Given the description of an element on the screen output the (x, y) to click on. 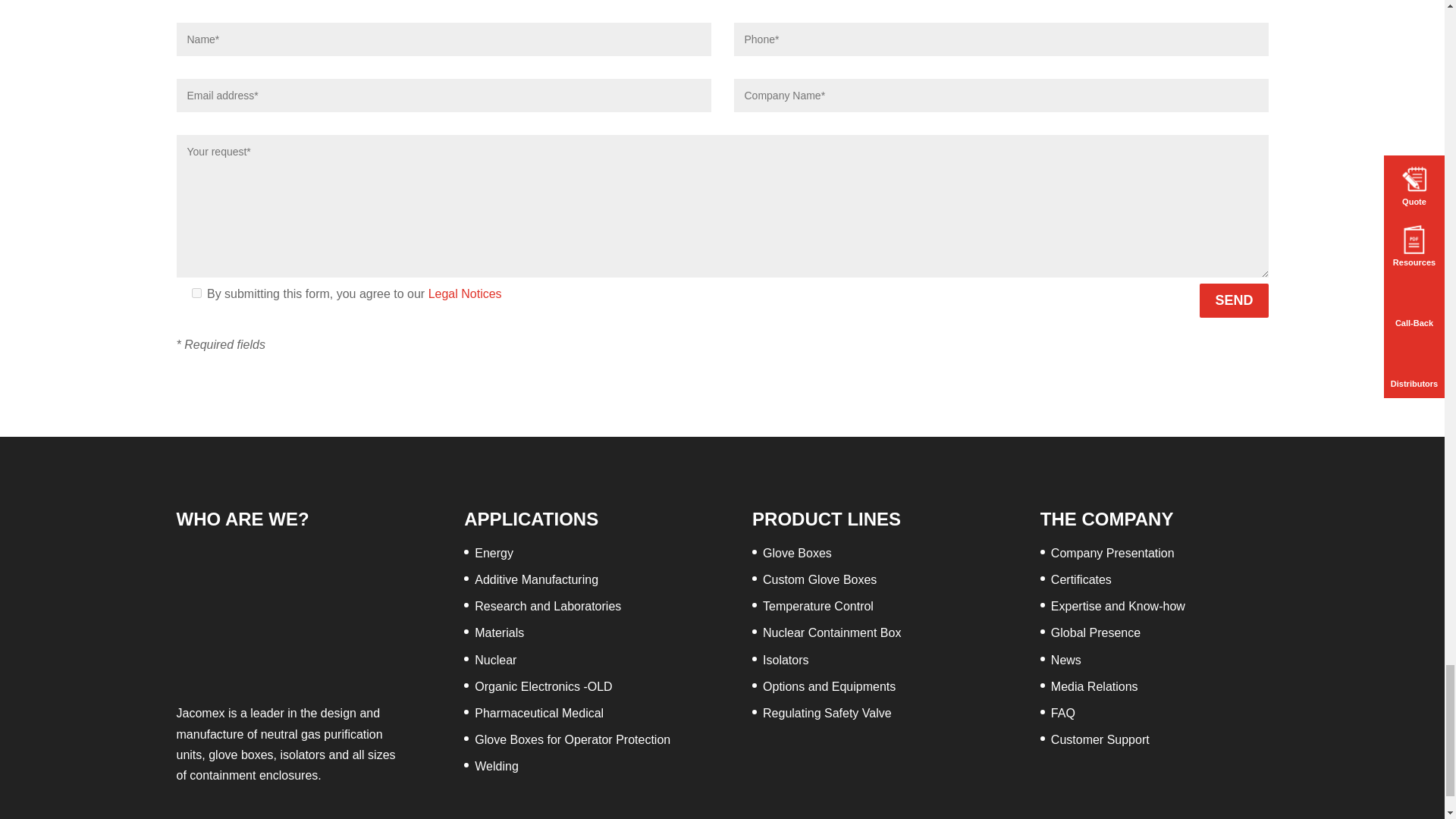
Send (1233, 300)
1 (195, 293)
